Given the description of an element on the screen output the (x, y) to click on. 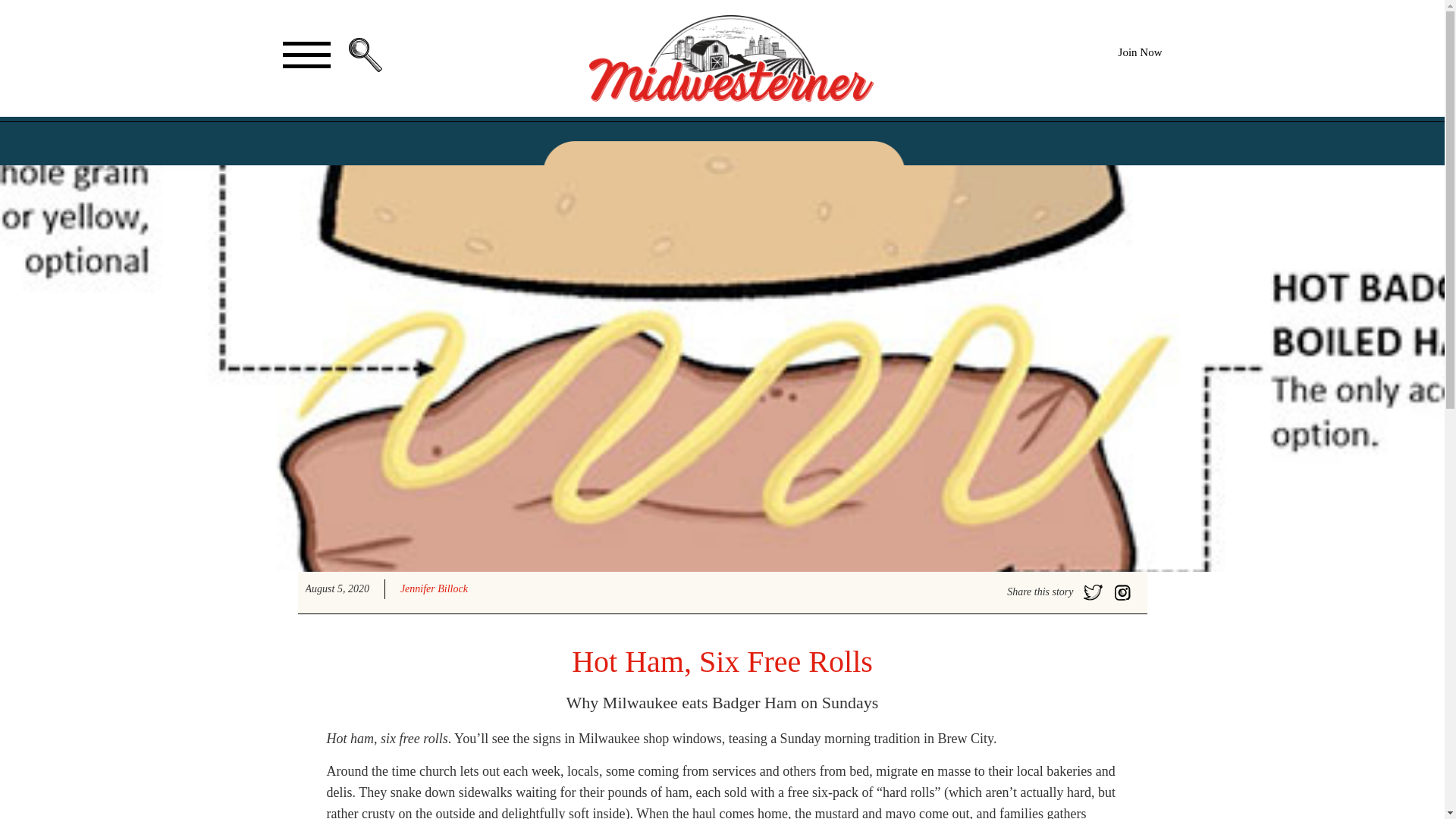
Jennifer Billock (433, 588)
Join Now (1139, 51)
Jennifer Billock (433, 588)
